Given the description of an element on the screen output the (x, y) to click on. 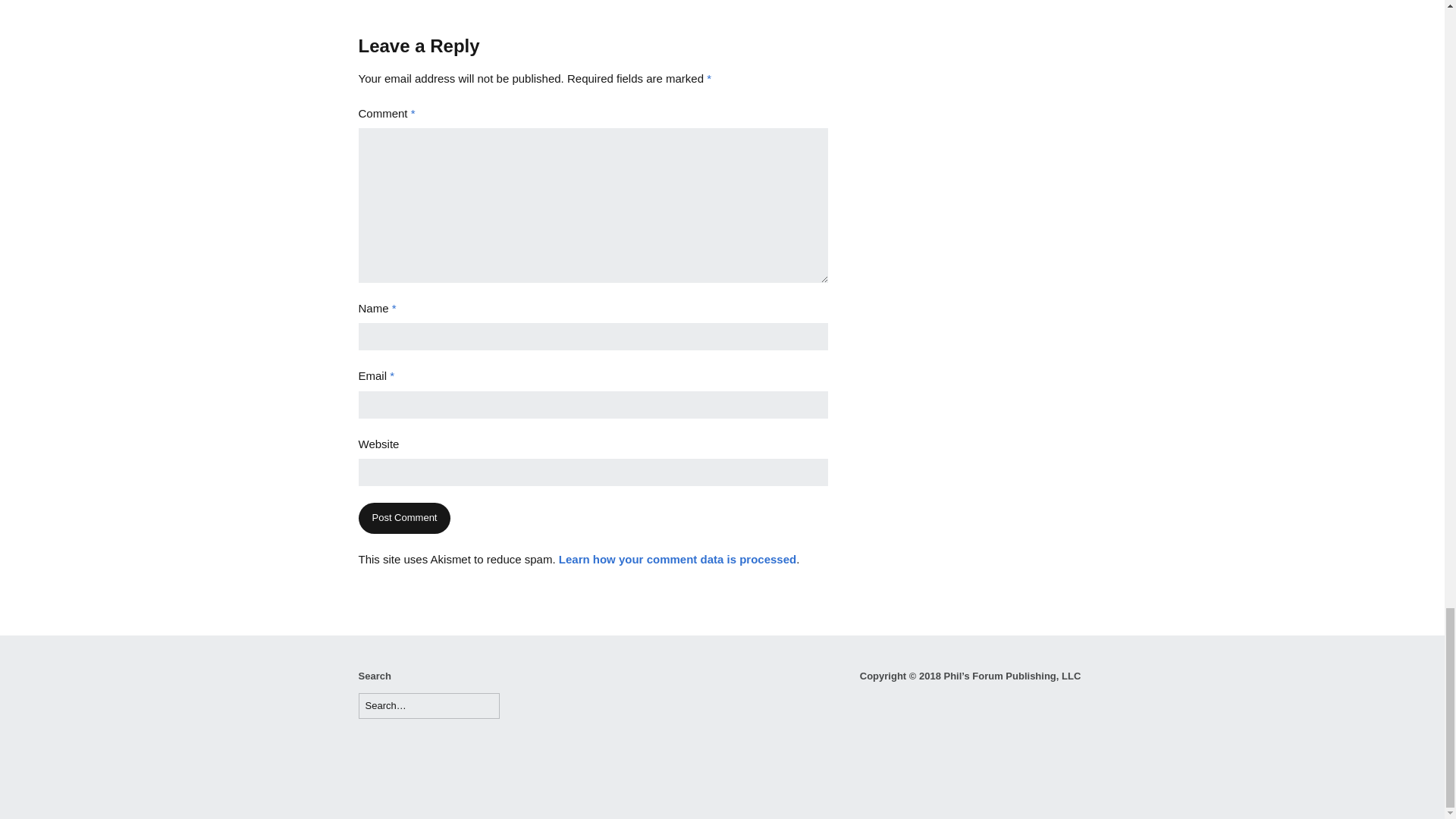
Post Comment (403, 517)
Post Comment (403, 517)
Learn how your comment data is processed (677, 558)
Press Enter to submit your search (428, 705)
